Given the description of an element on the screen output the (x, y) to click on. 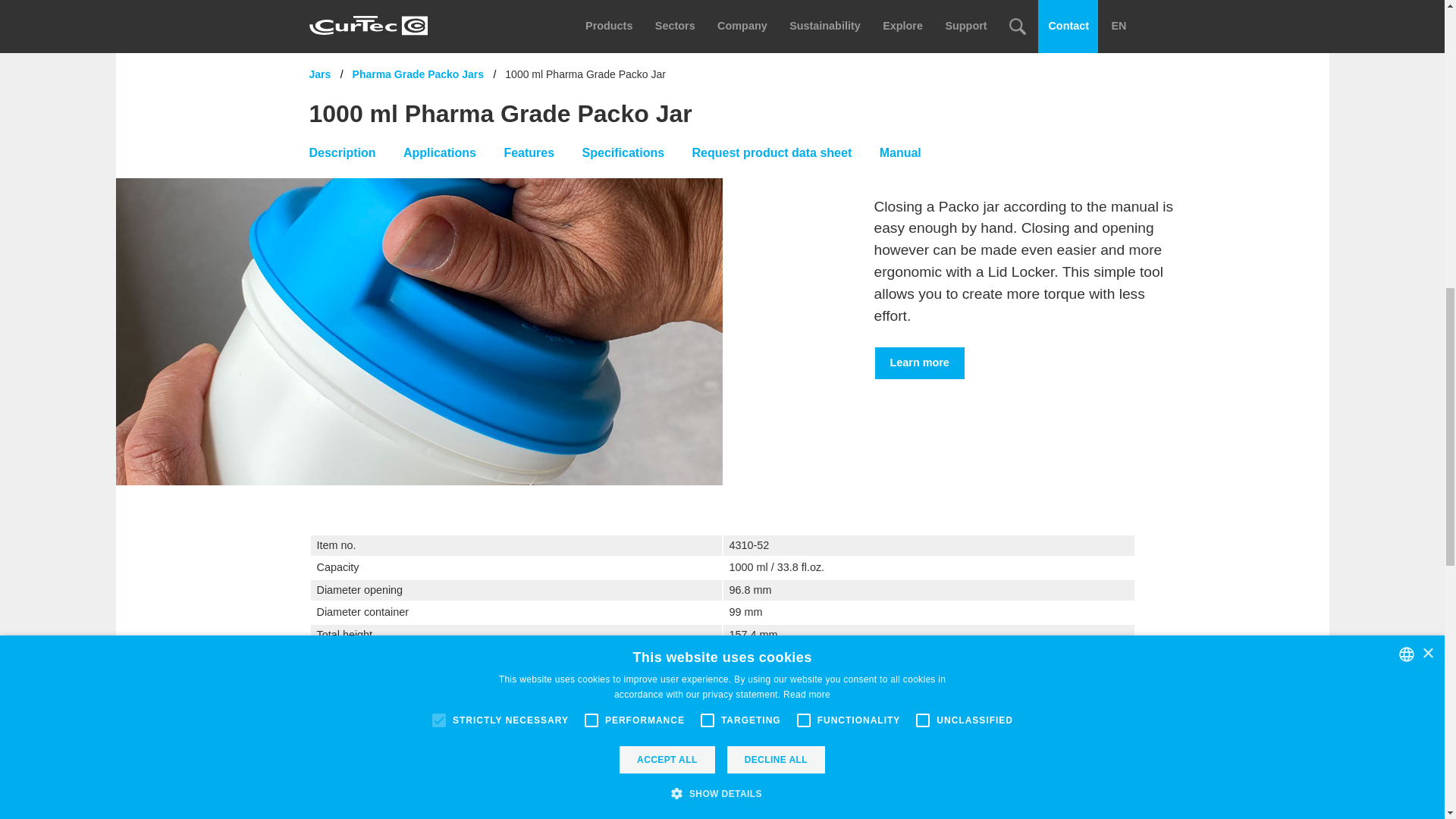
White (732, 679)
White (732, 702)
